Given the description of an element on the screen output the (x, y) to click on. 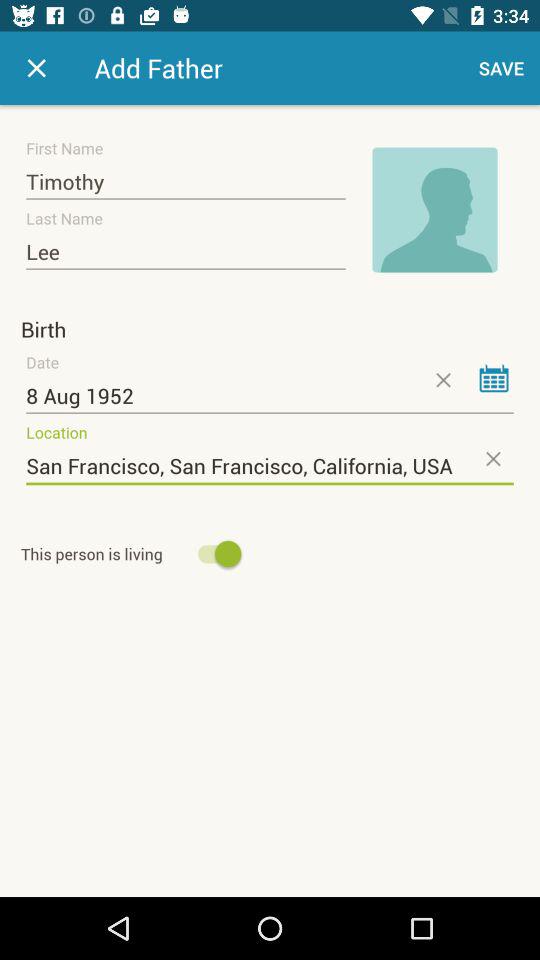
exit (36, 68)
